Given the description of an element on the screen output the (x, y) to click on. 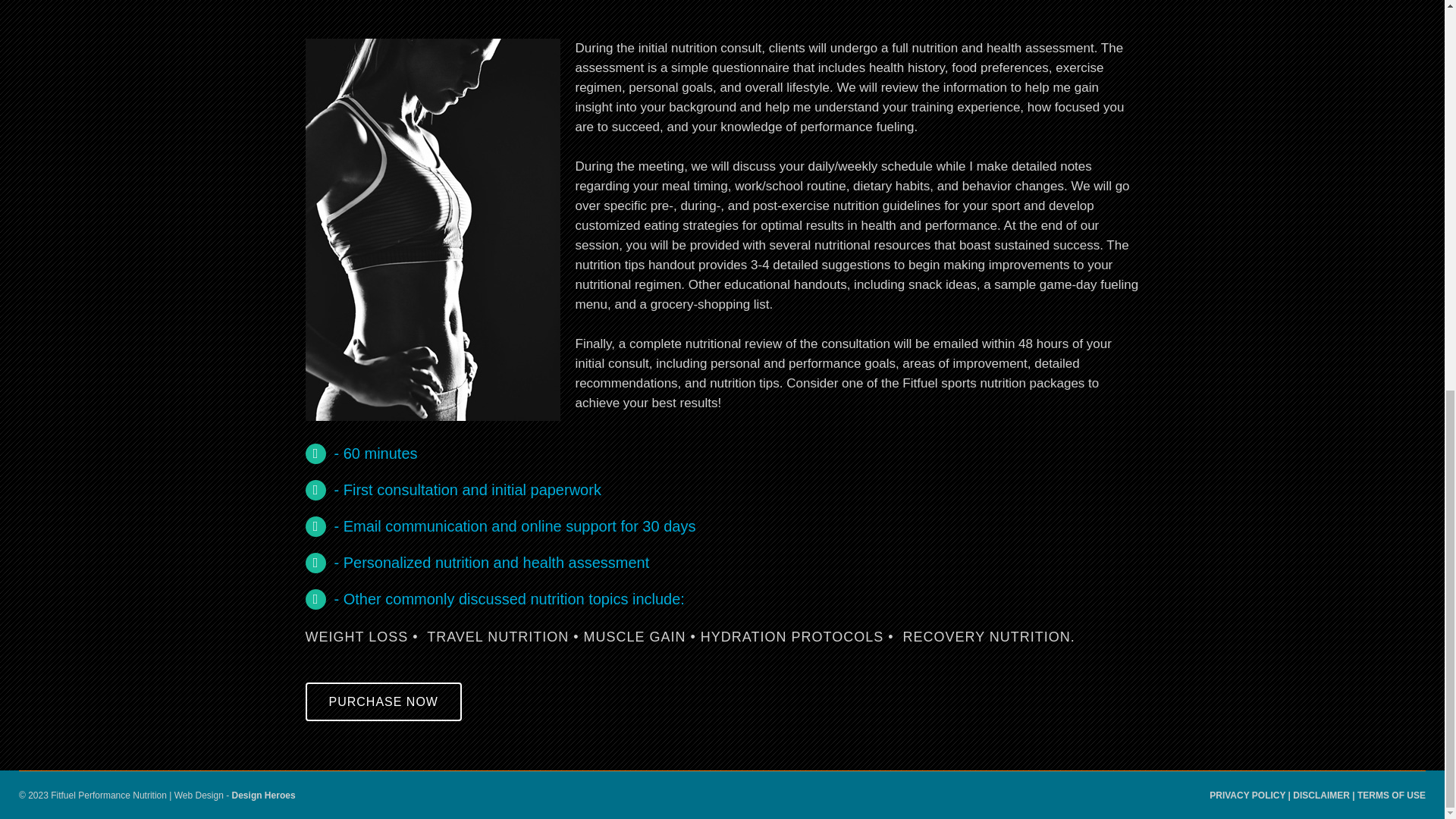
TERMS OF USE (1390, 794)
PURCHASE NOW (382, 701)
Design Heroes (263, 794)
